Given the description of an element on the screen output the (x, y) to click on. 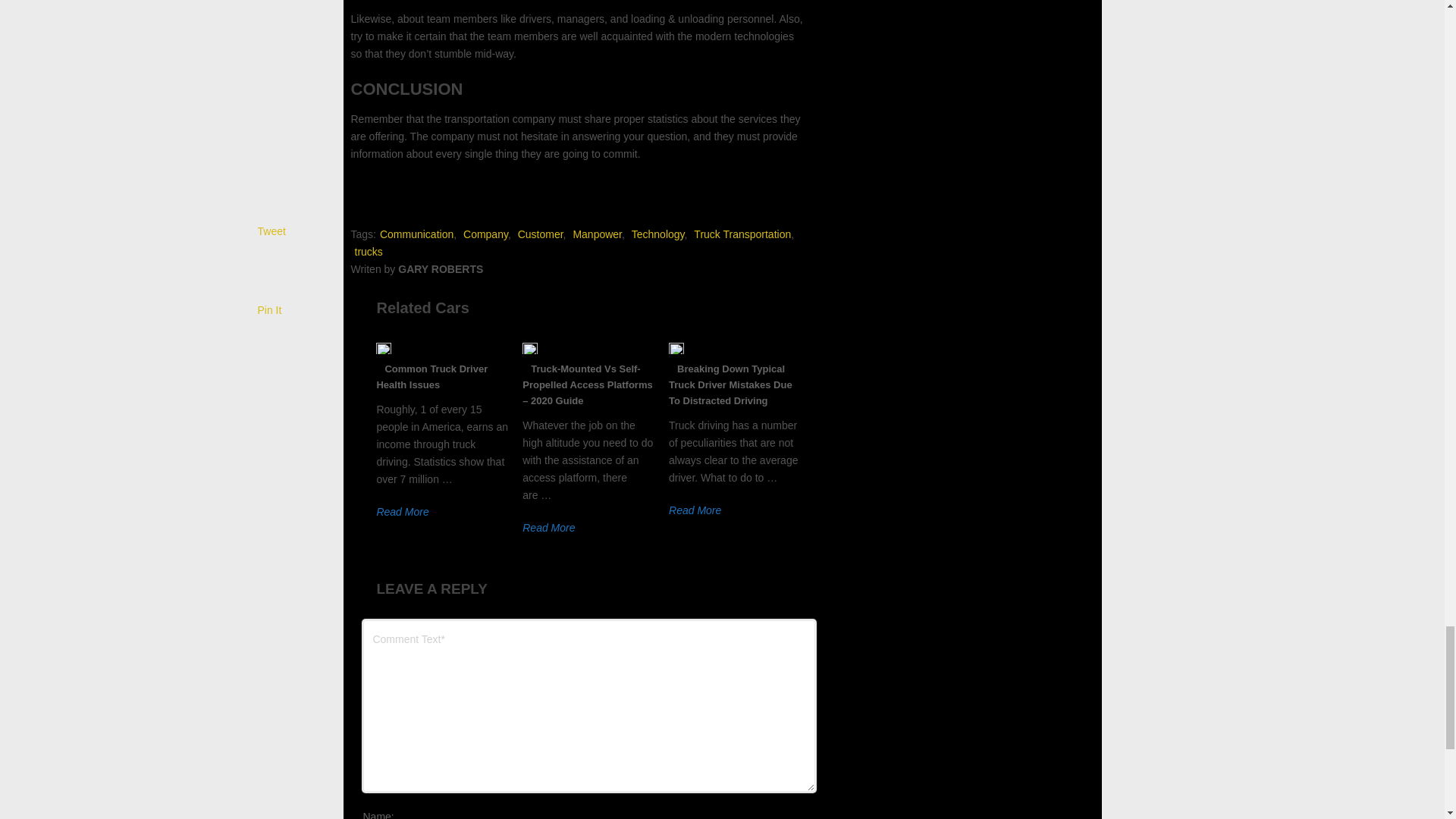
Communication (416, 234)
Manpower (596, 234)
trucks (368, 251)
Common Truck Driver Health Issues (431, 376)
Company (485, 234)
Truck Transportation (742, 234)
Read More (694, 510)
Read More (401, 511)
Common Truck Driver Health Issues (431, 376)
Technology (657, 234)
Customer (540, 234)
Read More (548, 527)
